Given the description of an element on the screen output the (x, y) to click on. 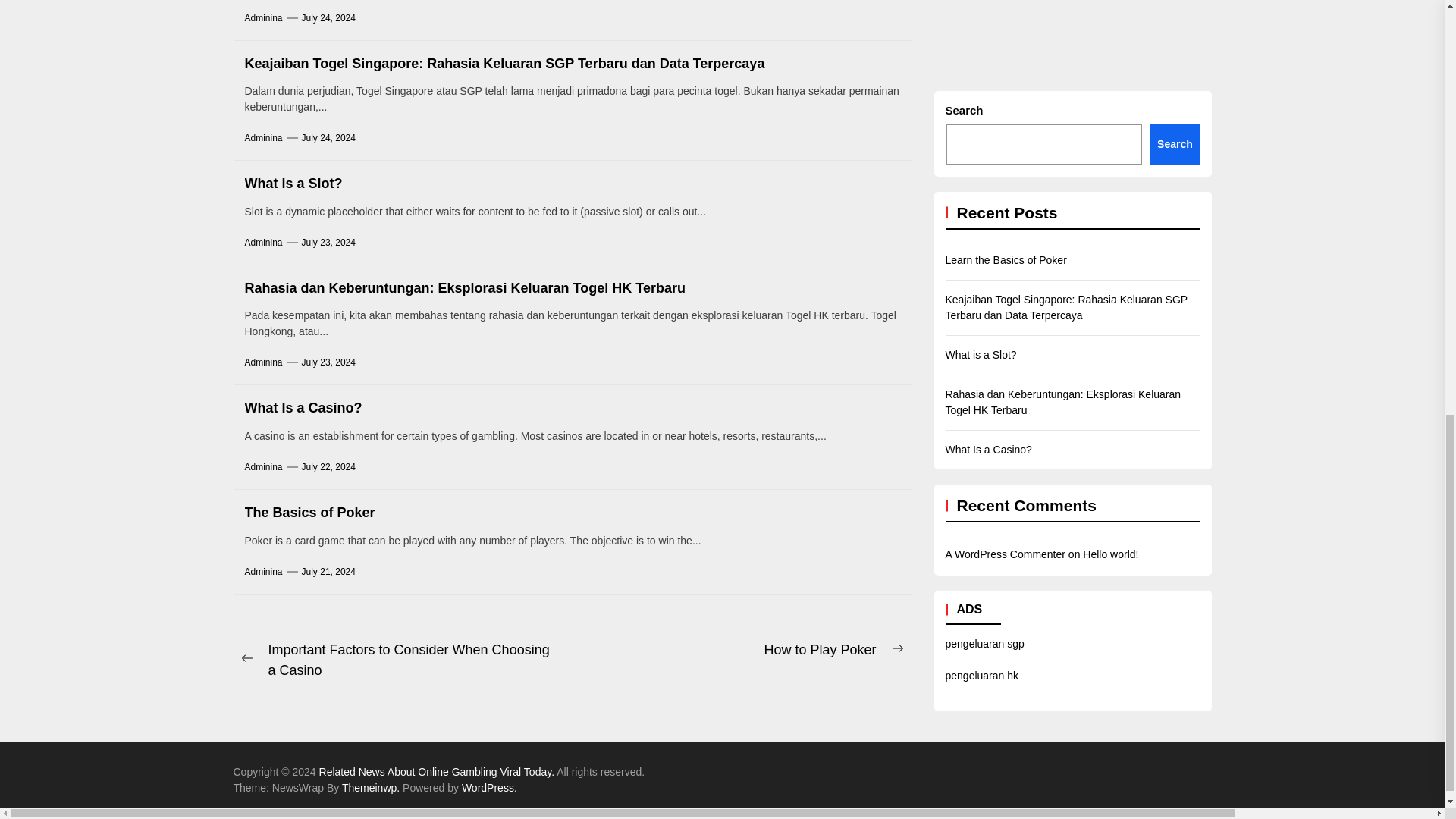
October 2022 (1416, 66)
November 2022 (1420, 26)
May 2022 (1406, 263)
June 2022 (1408, 223)
August 2022 (1414, 145)
July 2022 (1406, 184)
September 2022 (1420, 105)
